Given the description of an element on the screen output the (x, y) to click on. 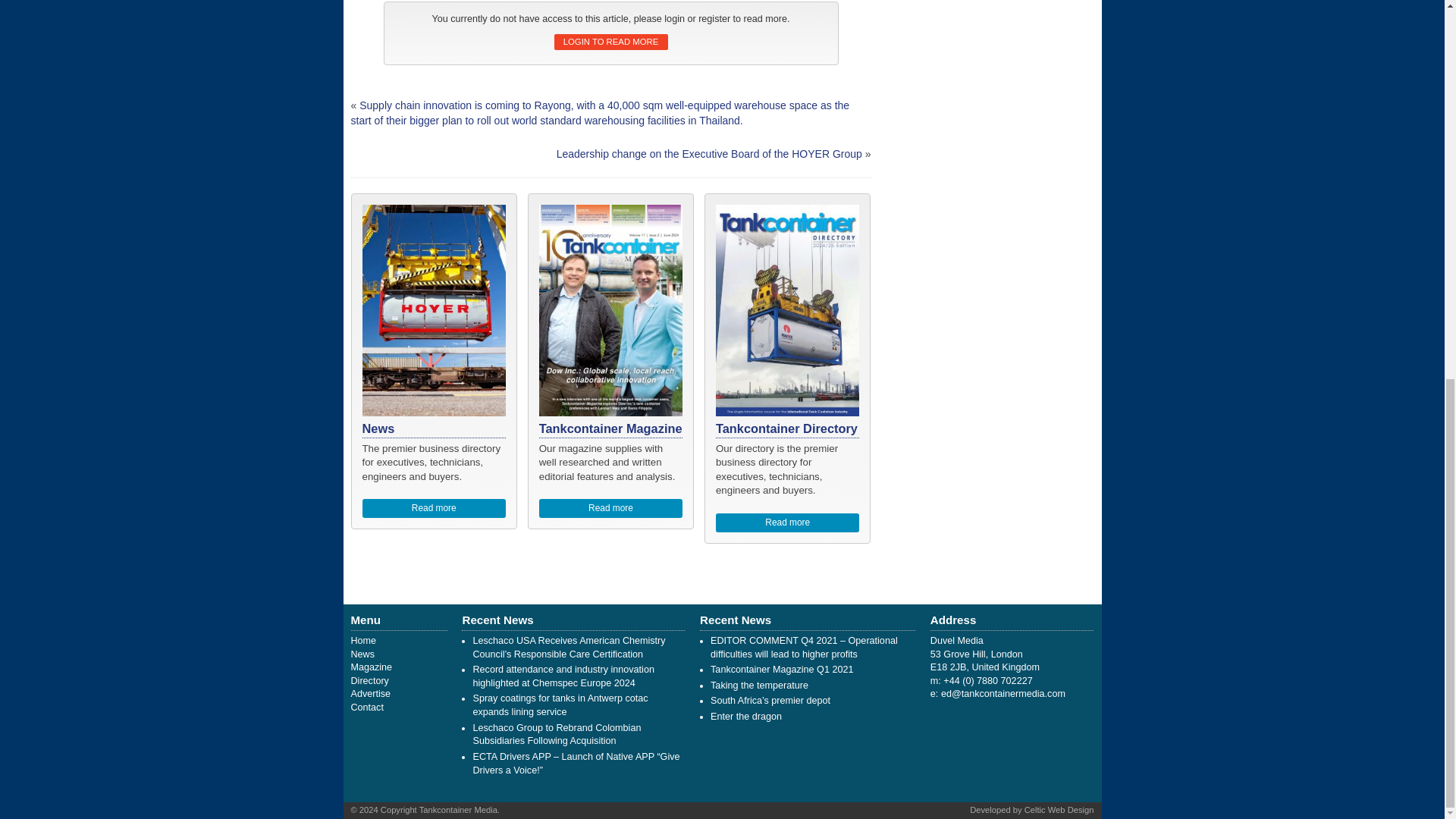
Advertise with Tank Container (370, 693)
Read more (788, 522)
Contact (366, 706)
WordPress (1059, 809)
Advertise (370, 693)
Directory (369, 680)
Home (362, 640)
Email Tank Container Media (1002, 693)
Tank Container Magazine (370, 666)
Tank Container Directory (369, 680)
Tank Container Media (362, 640)
LOGIN TO READ MORE (609, 41)
Magazine (370, 666)
Read more (610, 507)
